Given the description of an element on the screen output the (x, y) to click on. 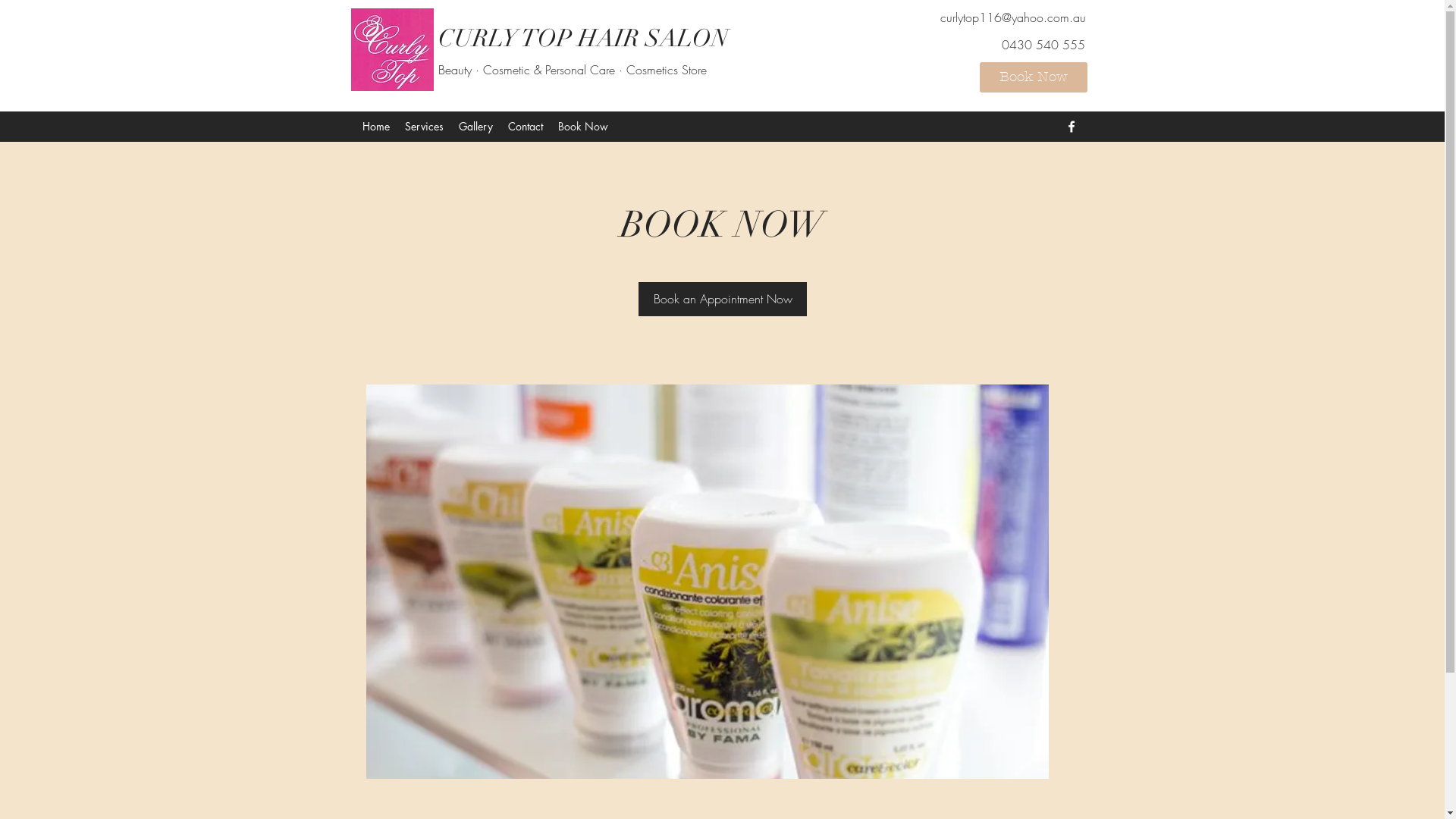
Gallery Element type: text (474, 126)
Book Now Element type: text (1033, 77)
Services Element type: text (424, 126)
Book Now Element type: text (582, 126)
Book an Appointment Now Element type: text (722, 299)
Home Element type: text (375, 126)
Contact Element type: text (525, 126)
curlytop116@yahoo.com.au Element type: text (1012, 17)
